Given the description of an element on the screen output the (x, y) to click on. 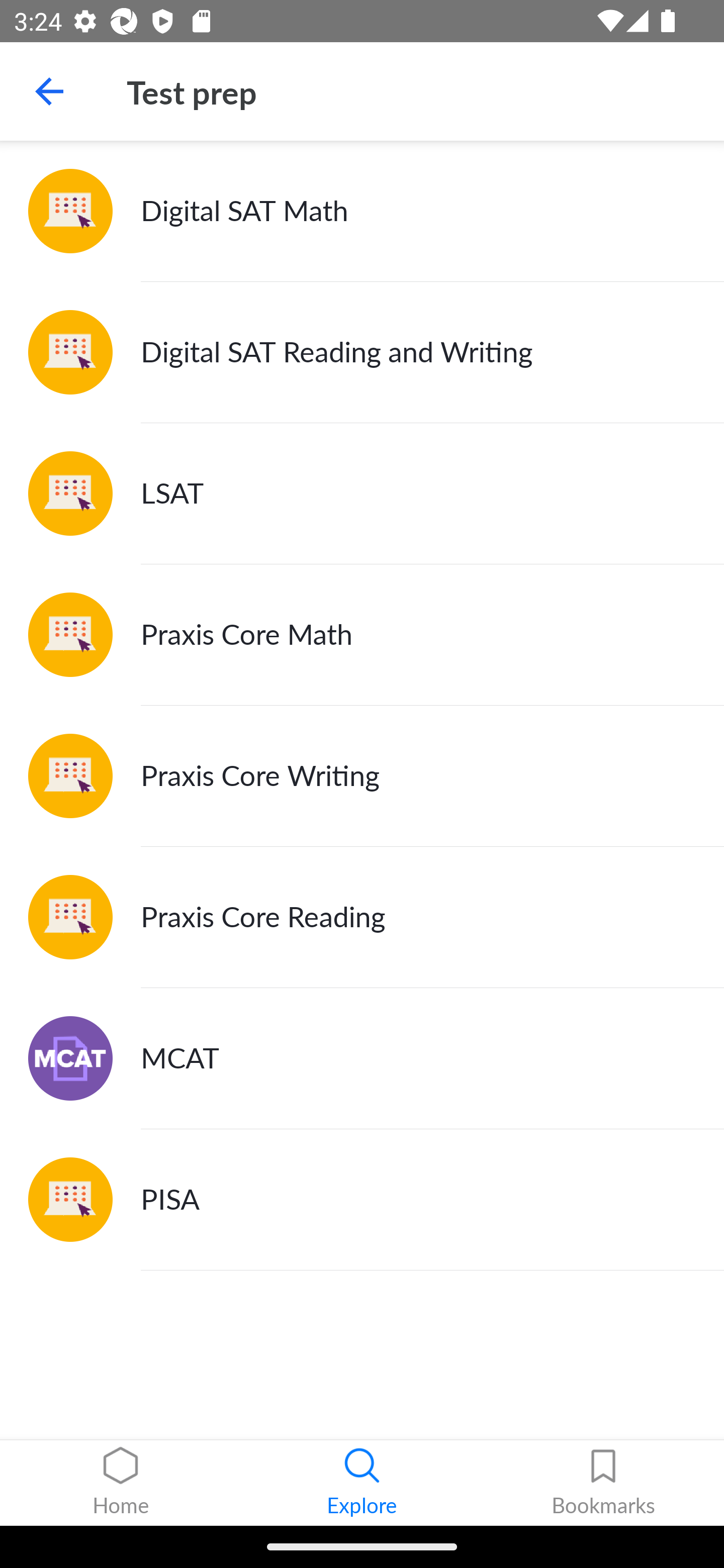
Navigate up (49, 91)
Digital SAT Math (362, 211)
Digital SAT Reading and Writing  (362, 352)
LSAT (362, 493)
Praxis Core Math (362, 634)
Praxis Core Writing (362, 775)
Praxis Core Reading (362, 916)
MCAT (362, 1057)
PISA (362, 1199)
Home (120, 1482)
Explore (361, 1482)
Bookmarks (603, 1482)
